Given the description of an element on the screen output the (x, y) to click on. 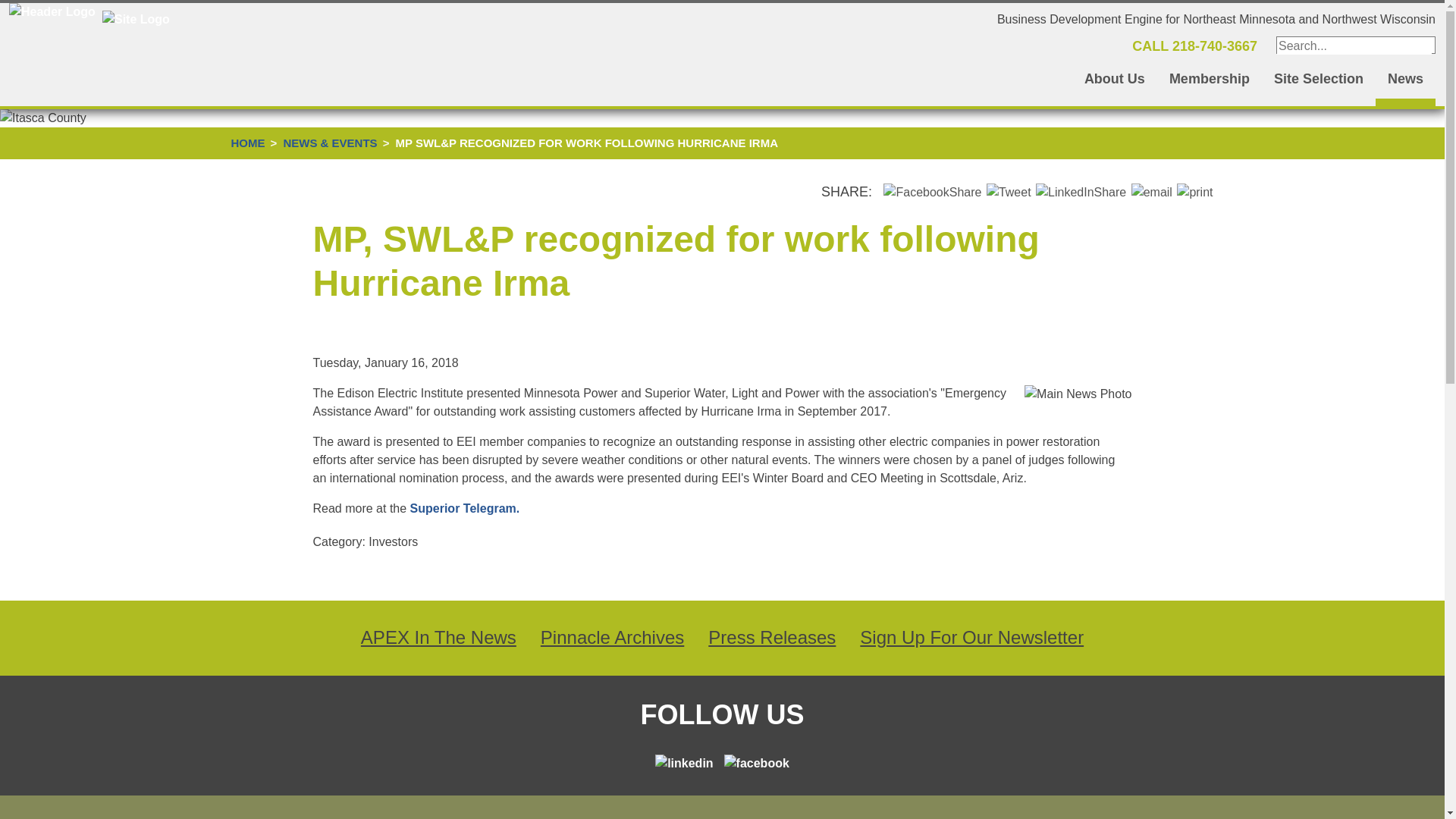
218-740-3667 (1214, 46)
Press Releases (771, 637)
email (1151, 192)
Pinnacle Archives (612, 637)
Sign Up For Our Newsletter (971, 637)
print (1194, 192)
About Us (1114, 81)
Tweet (1008, 192)
APEX In The News (438, 637)
FacebookShare (932, 192)
HOME (247, 142)
Superior Telegram. (464, 508)
Site Selection (1318, 81)
Membership (1209, 81)
News (1405, 81)
